Given the description of an element on the screen output the (x, y) to click on. 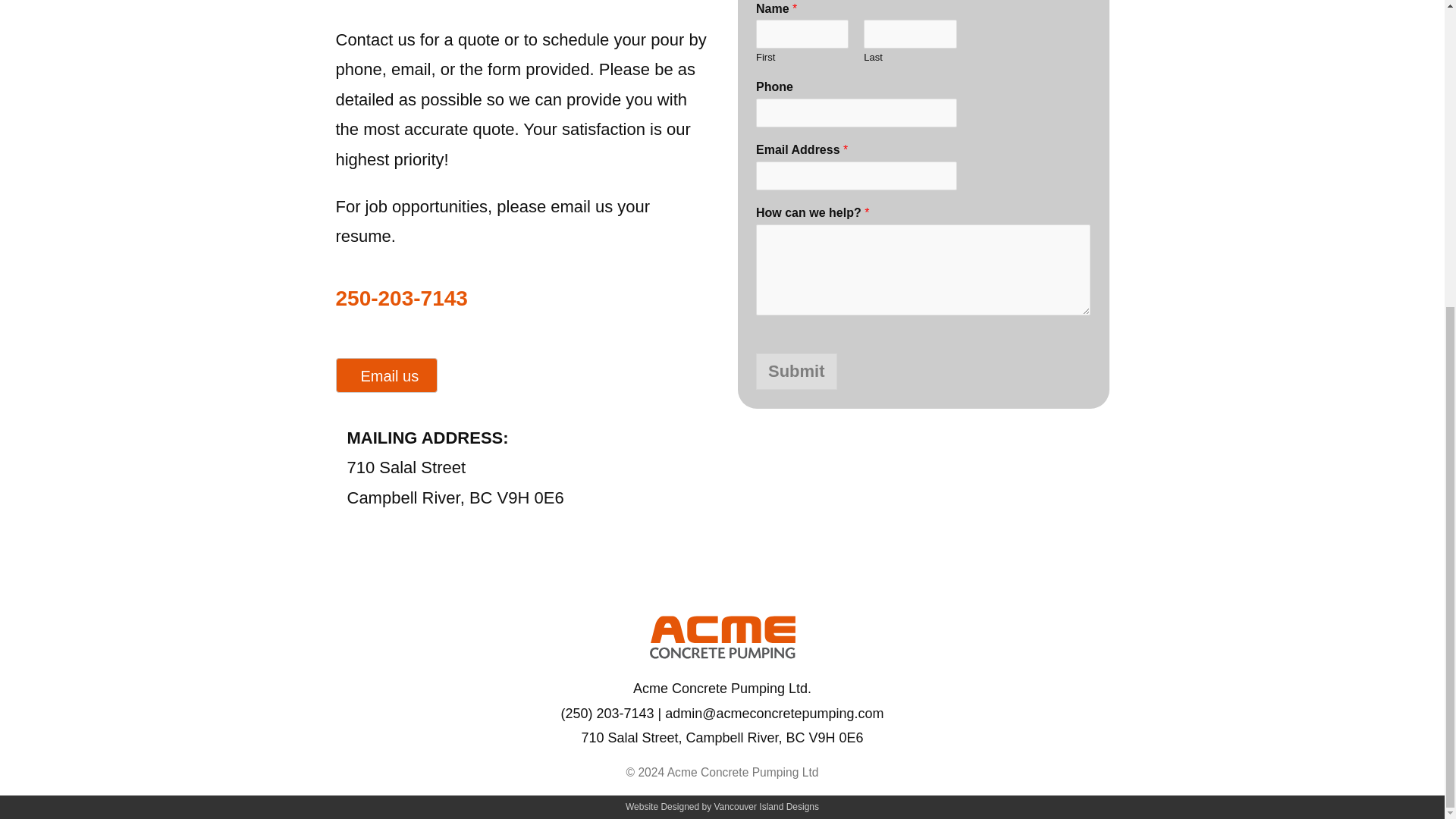
Email us (386, 375)
Submit (796, 370)
